Given the description of an element on the screen output the (x, y) to click on. 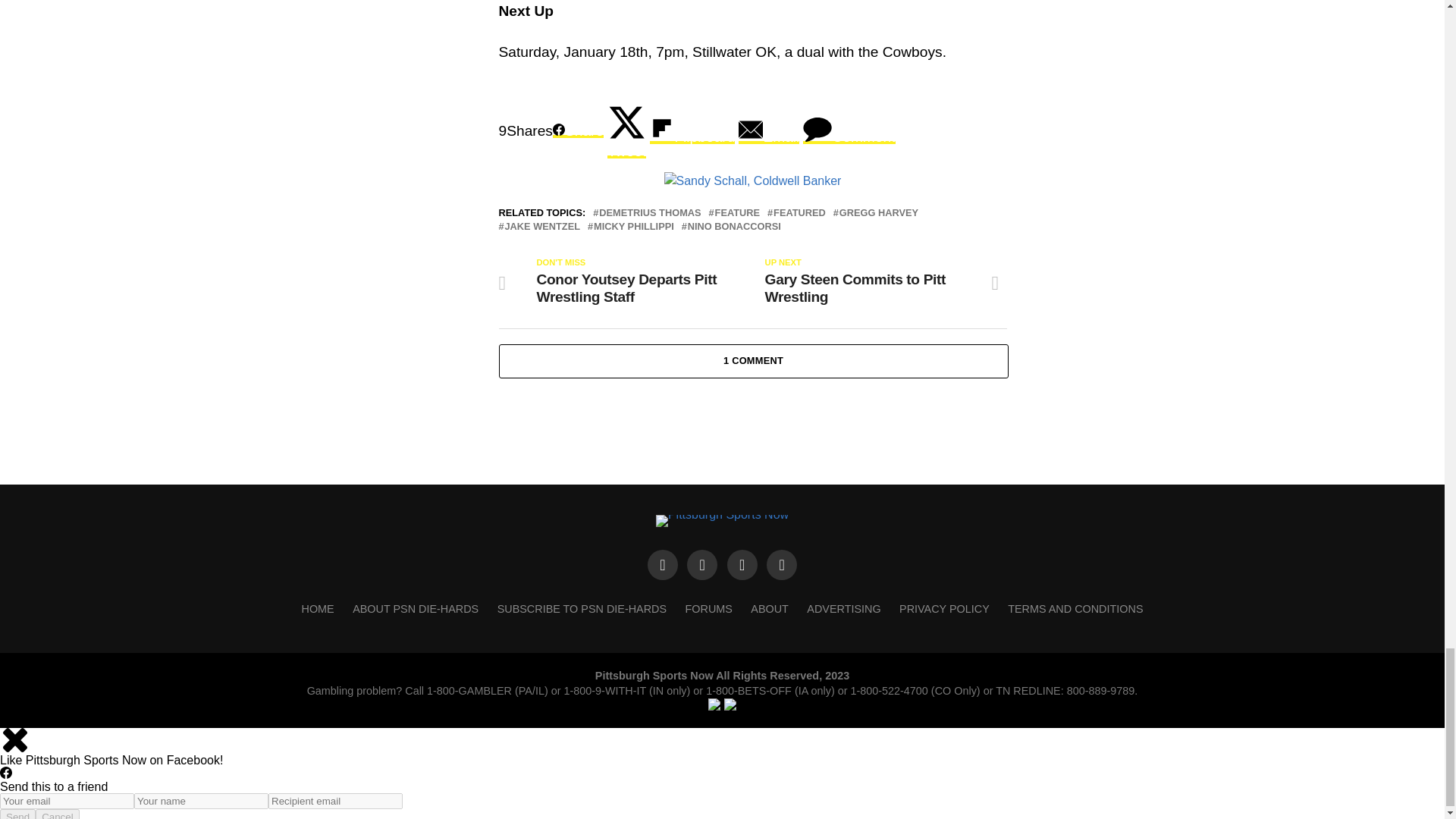
Share on Share (578, 130)
Share on Comment (849, 130)
Share on Flipboard (692, 130)
Share on Email (768, 130)
